Given the description of an element on the screen output the (x, y) to click on. 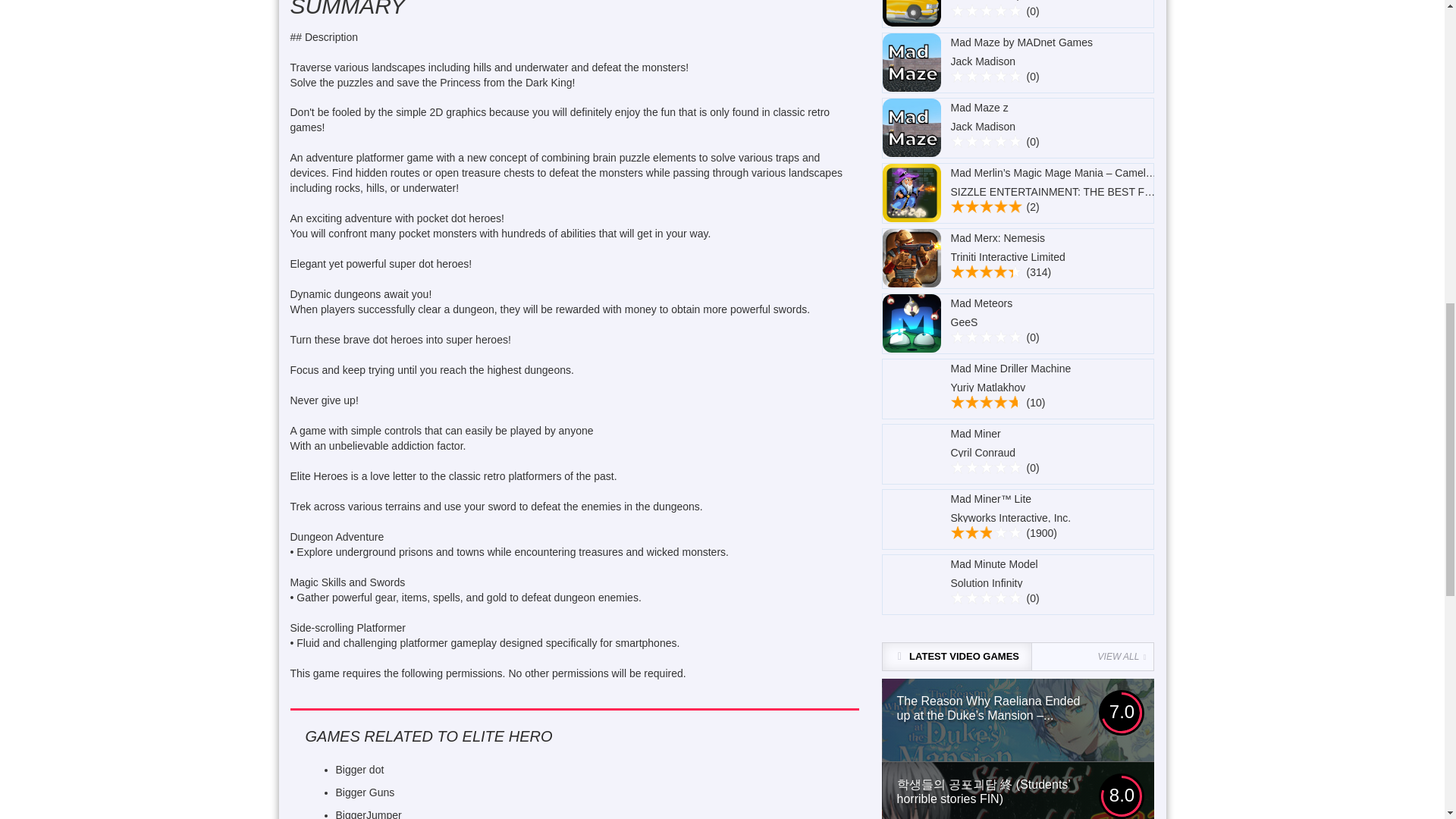
Bigger dot (359, 769)
Bigger Guns (364, 792)
BiggerJumper (367, 814)
